Given the description of an element on the screen output the (x, y) to click on. 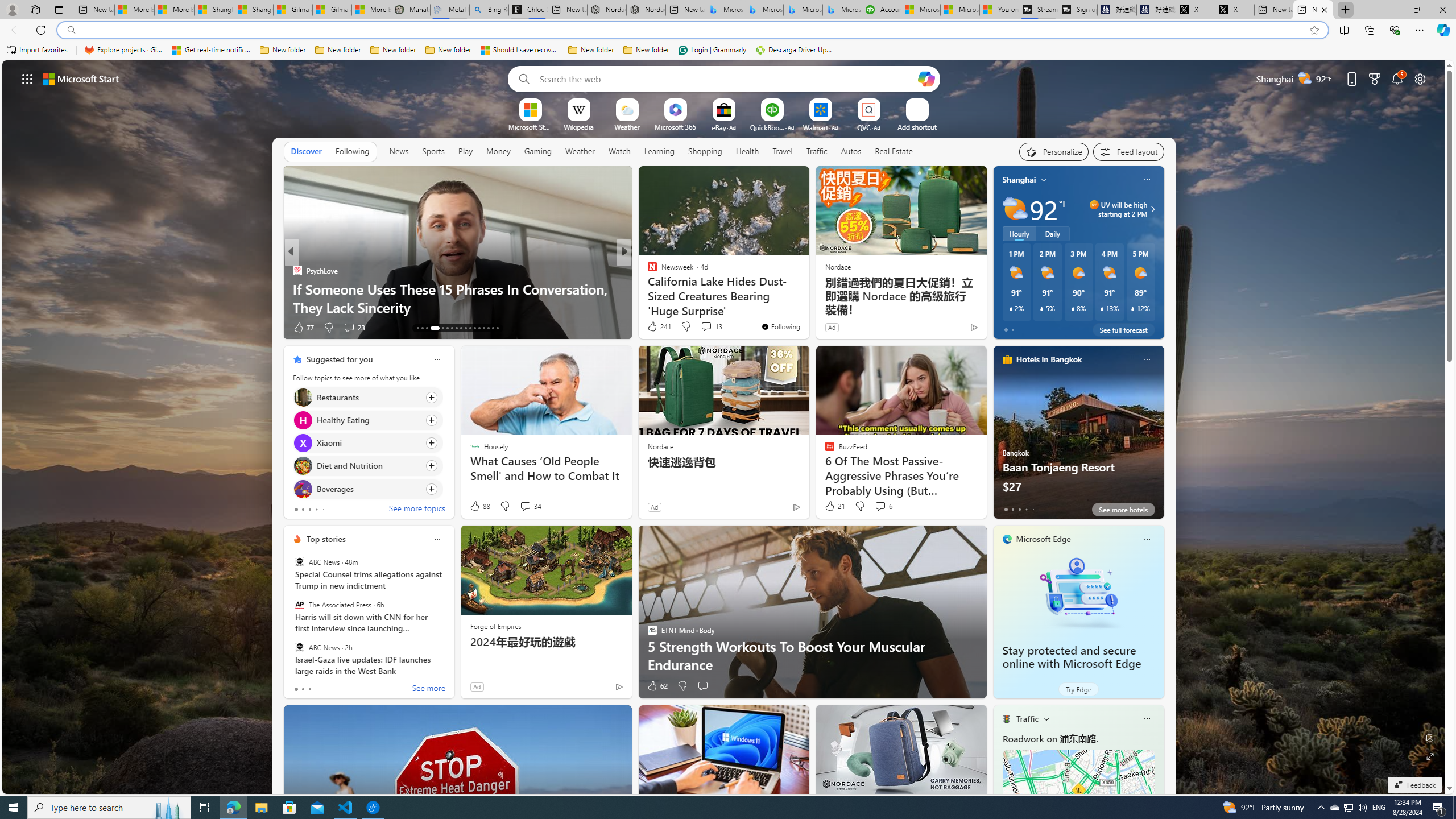
View comments 405 Comment (6, 327)
Stay protected and secure online with Microsoft Edge (1077, 592)
227 Like (654, 327)
Click to follow topic Beverages (367, 488)
